Given the description of an element on the screen output the (x, y) to click on. 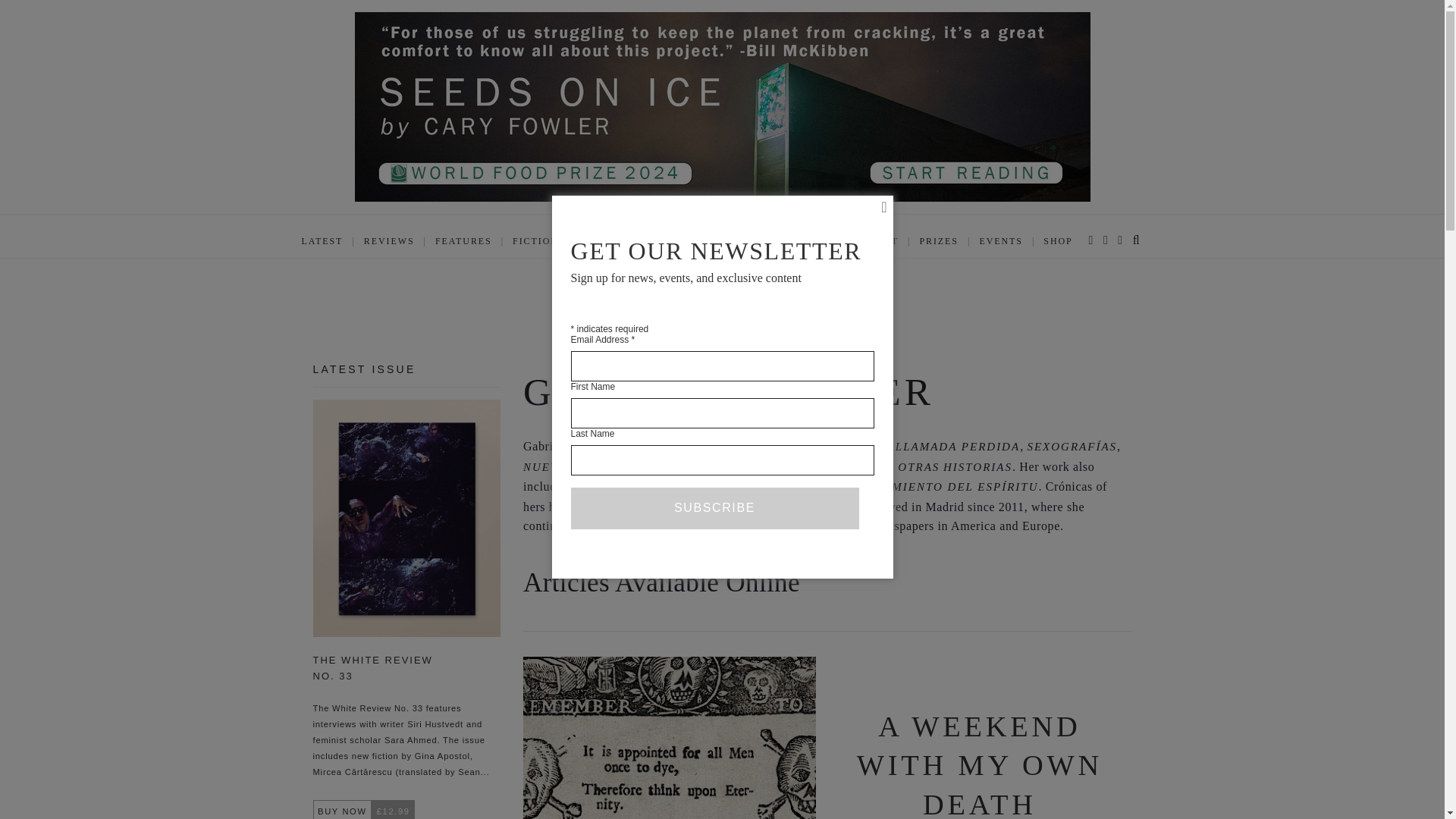
Subscribe (714, 507)
POETRY (601, 240)
PRIZES (938, 240)
LATEST (322, 240)
SHOP (1057, 240)
EVENTS (1000, 240)
REVIEWS (389, 240)
FEATURES (463, 240)
FICTION (535, 240)
PRINT (881, 240)
